Given the description of an element on the screen output the (x, y) to click on. 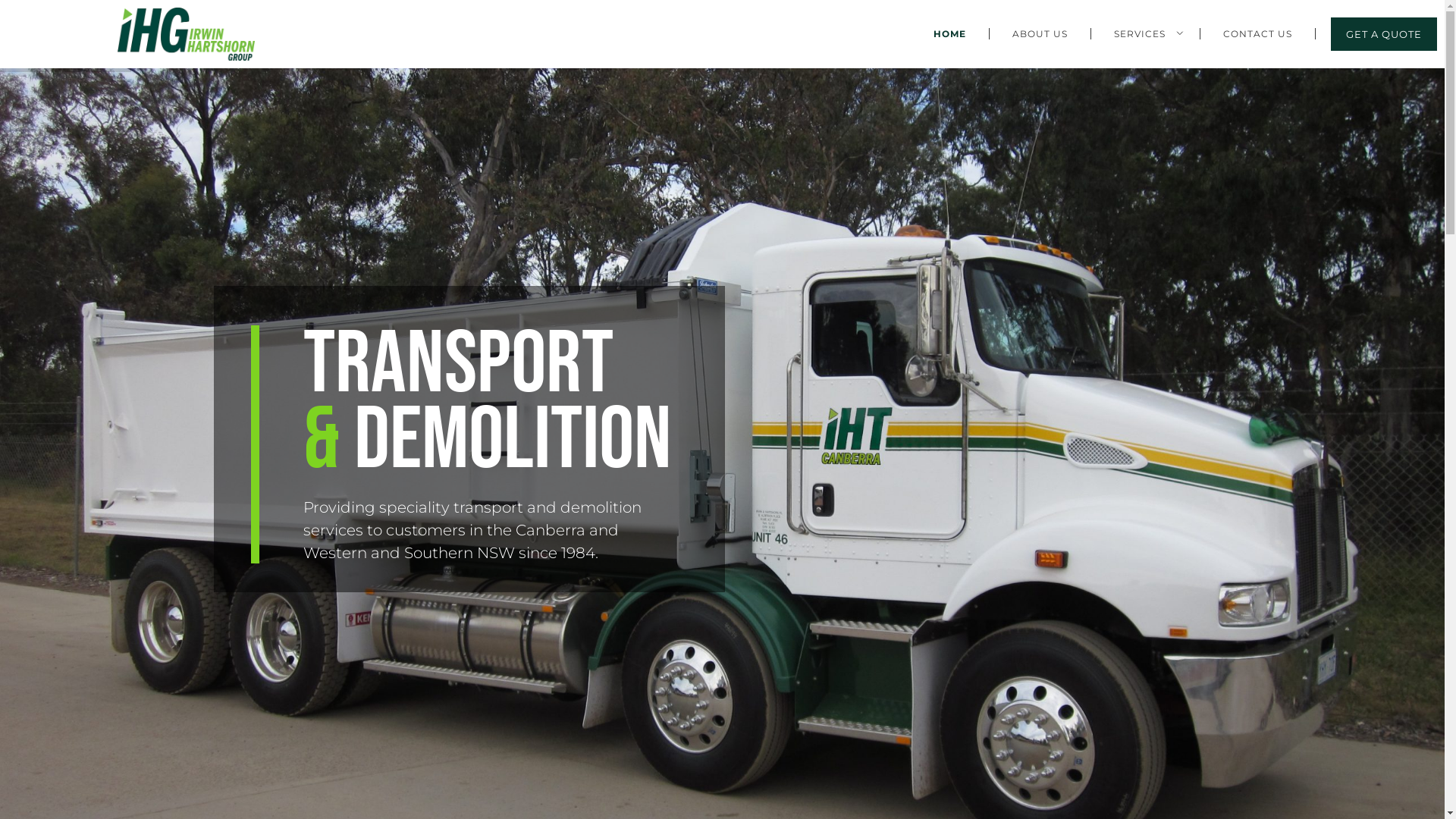
HOME Element type: text (949, 33)
SERVICES Element type: text (1145, 33)
CONTACT US Element type: text (1257, 33)
GET A QUOTE Element type: text (1383, 33)
ABOUT US Element type: text (1040, 33)
